Given the description of an element on the screen output the (x, y) to click on. 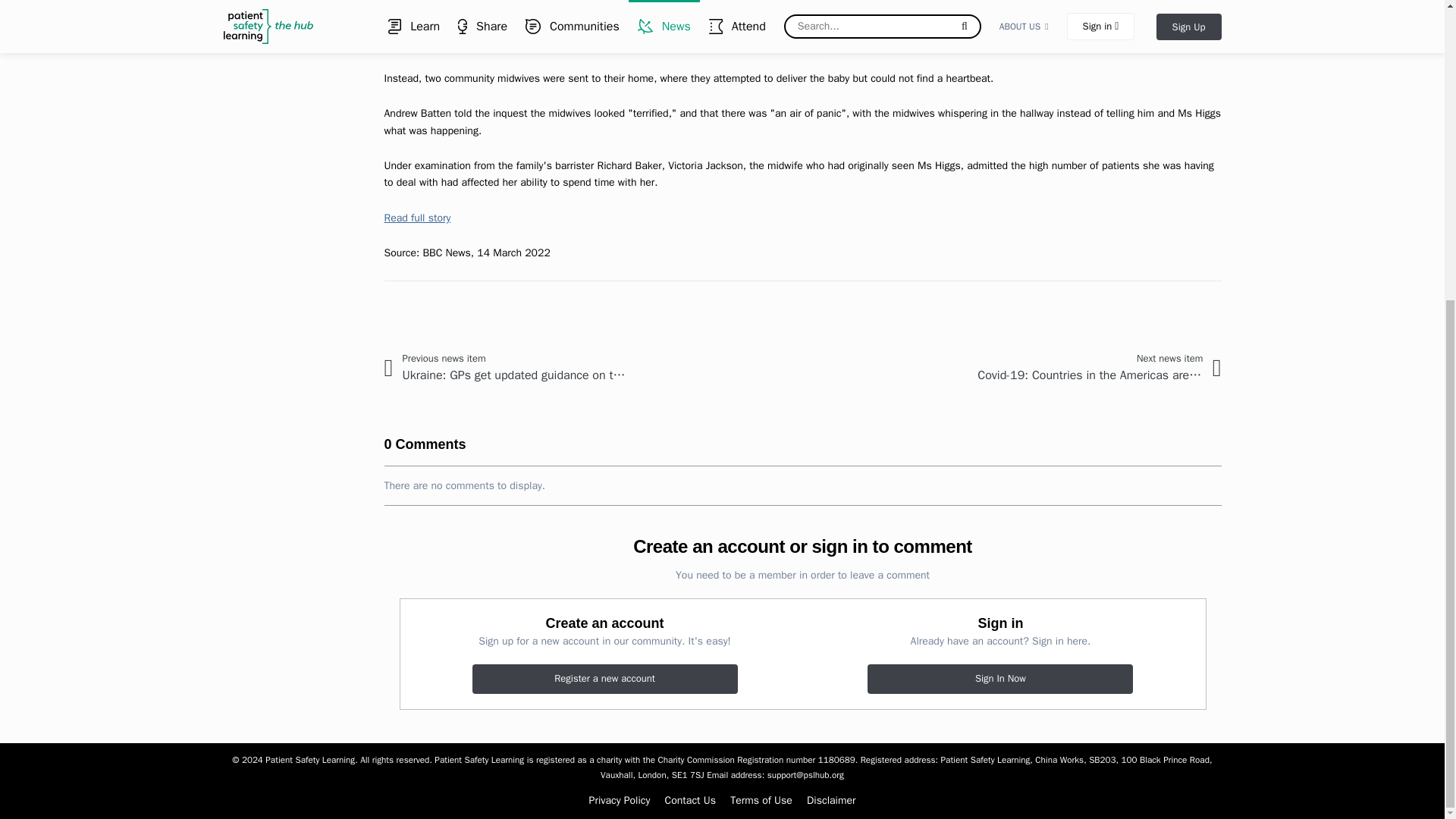
Previous news item (516, 367)
Next news item (1088, 367)
